Given the description of an element on the screen output the (x, y) to click on. 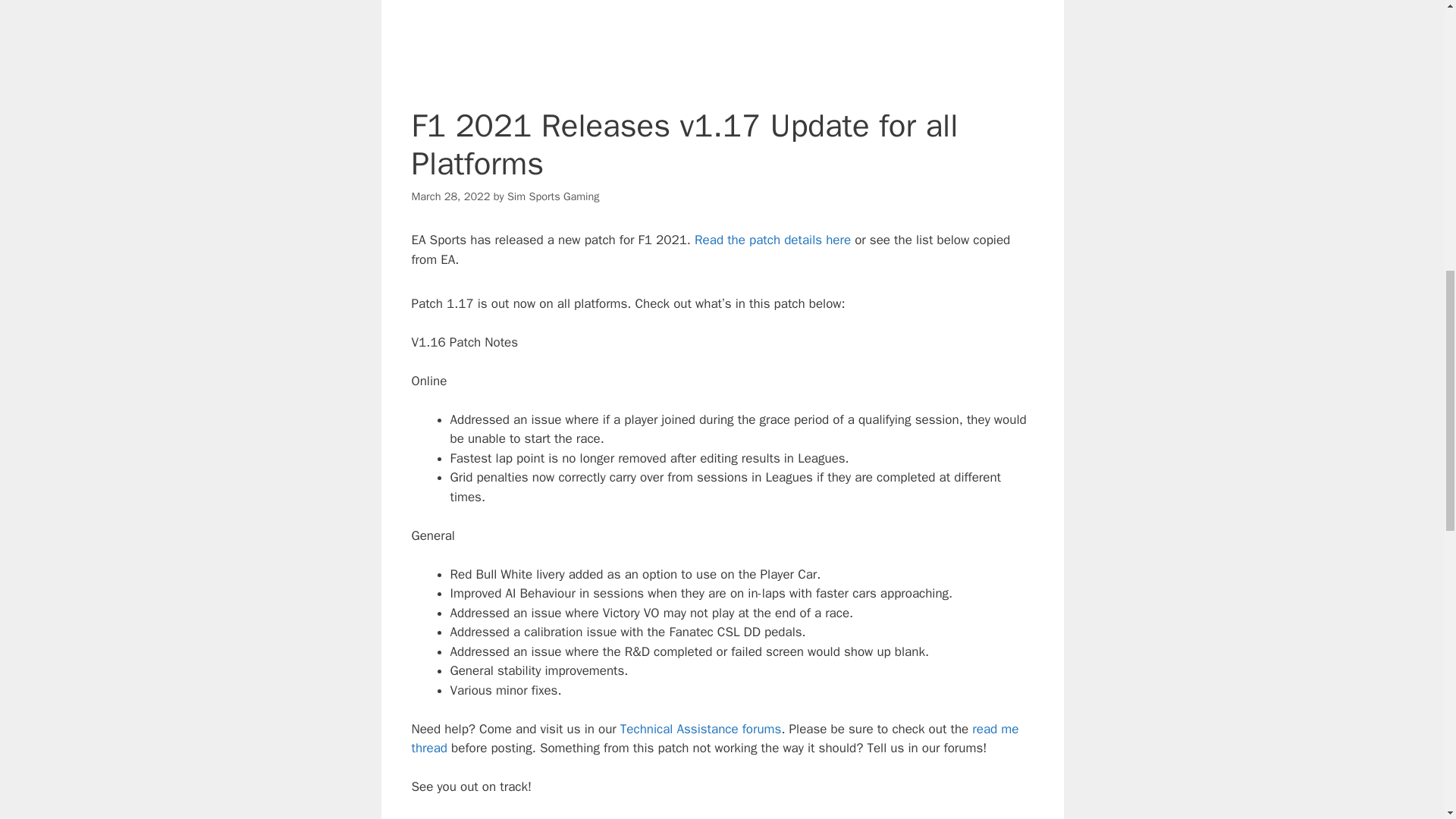
Advertisement (721, 45)
Read the patch details here (772, 239)
Sim Sports Gaming (552, 196)
View all posts by Sim Sports Gaming (552, 196)
Technical Assistance forums (700, 729)
read me thread (713, 738)
